Given the description of an element on the screen output the (x, y) to click on. 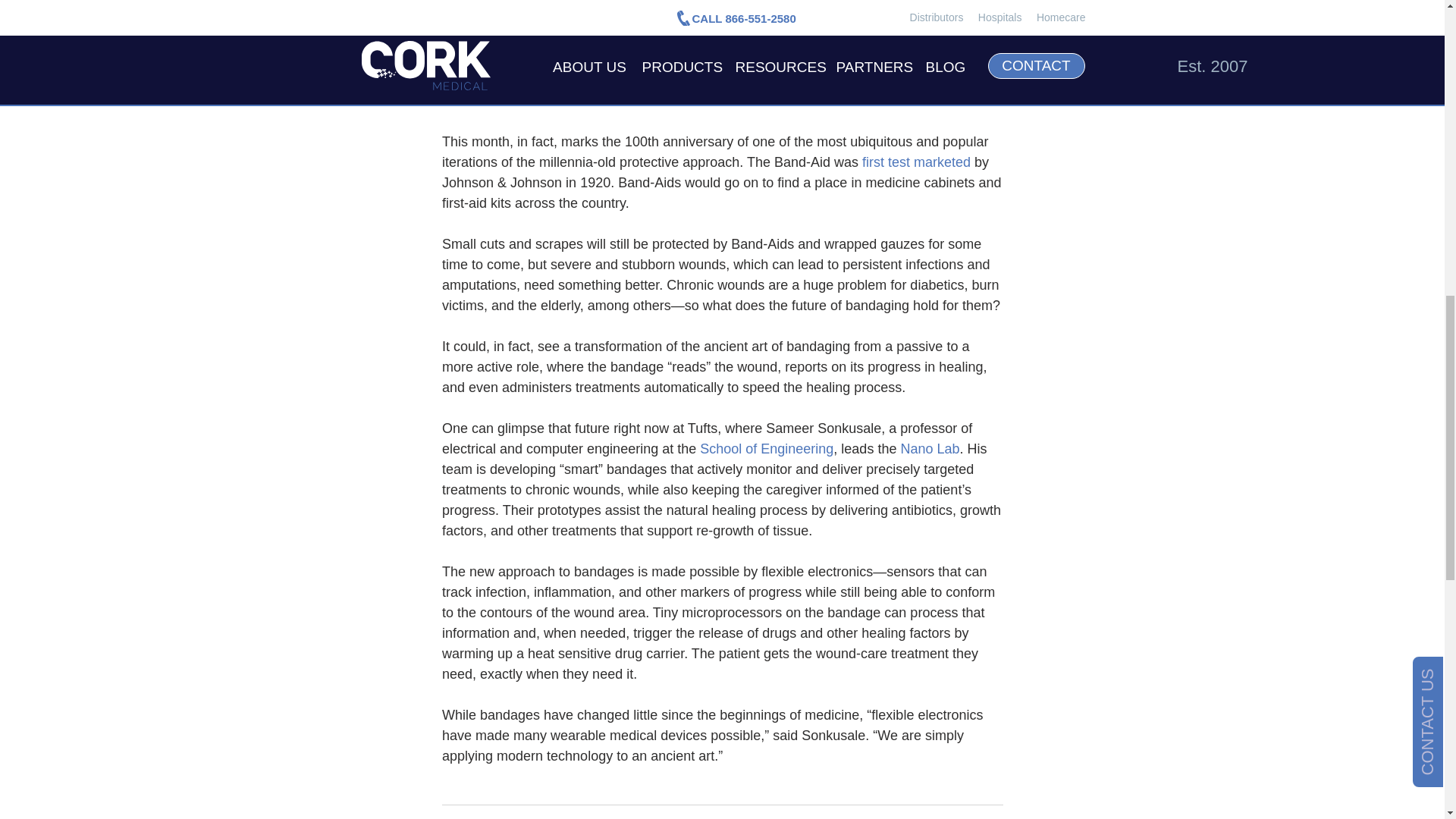
Nano Lab (929, 448)
School of Engineering (766, 448)
first test marketed (915, 161)
